Given the description of an element on the screen output the (x, y) to click on. 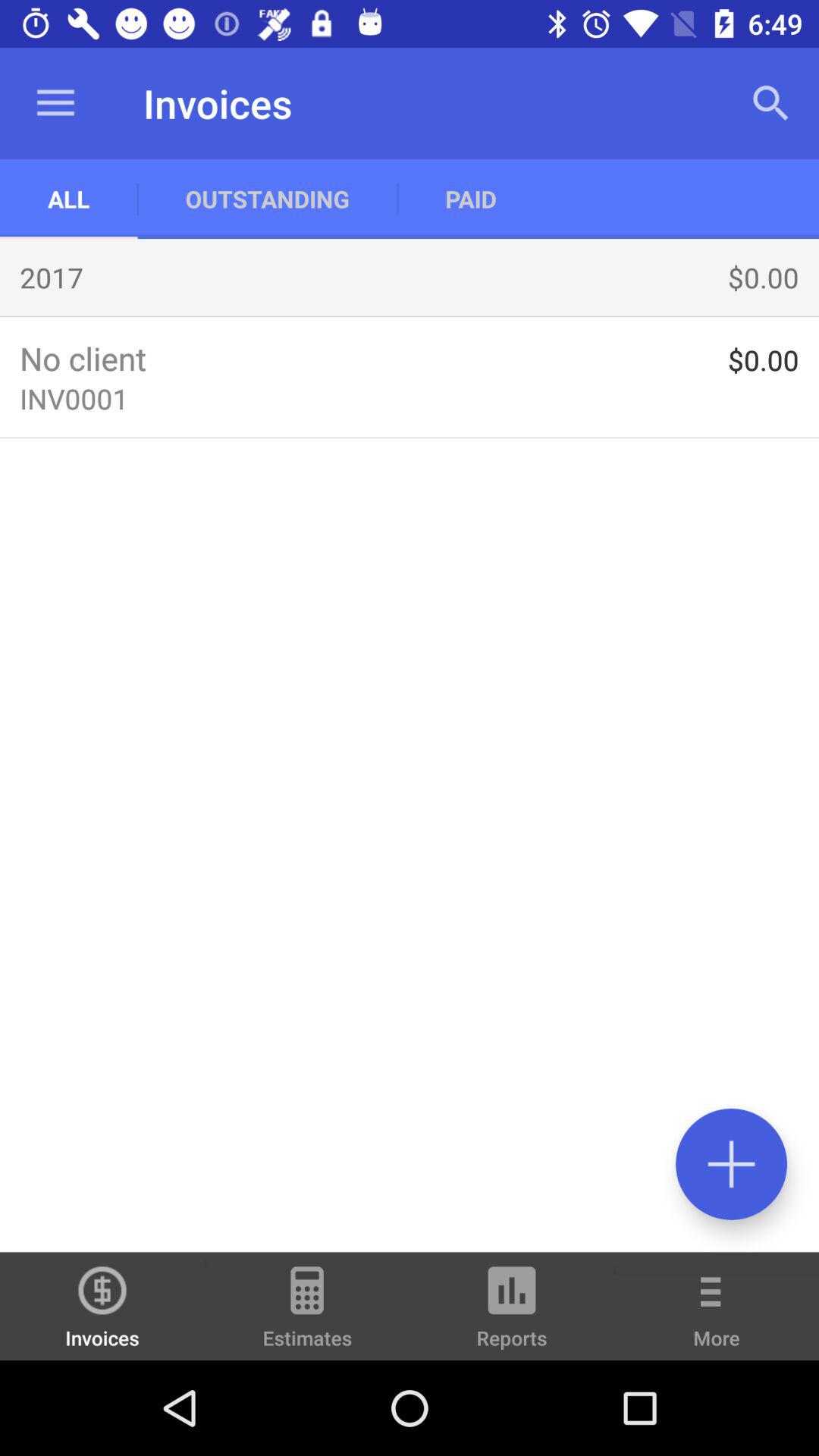
select item to the left of the more item (511, 1313)
